Given the description of an element on the screen output the (x, y) to click on. 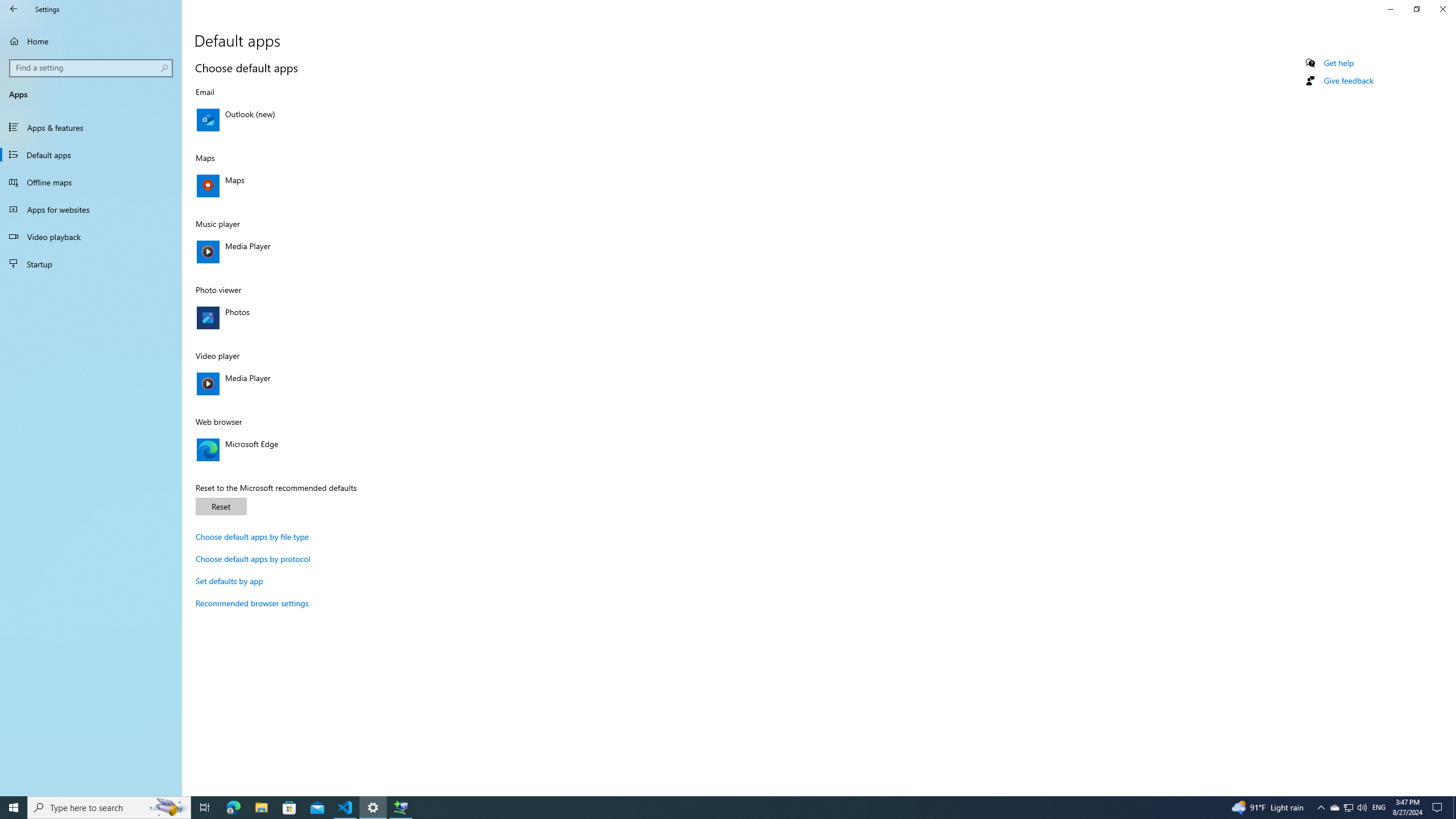
Tray Input Indicator - English (United States) (1378, 807)
Maps, Maps (314, 185)
Get help (1338, 62)
Startup (91, 263)
Choose default apps by file type (251, 536)
Offline maps (91, 181)
Video playback (91, 236)
Back (13, 9)
Minimize Settings (1390, 9)
